Given the description of an element on the screen output the (x, y) to click on. 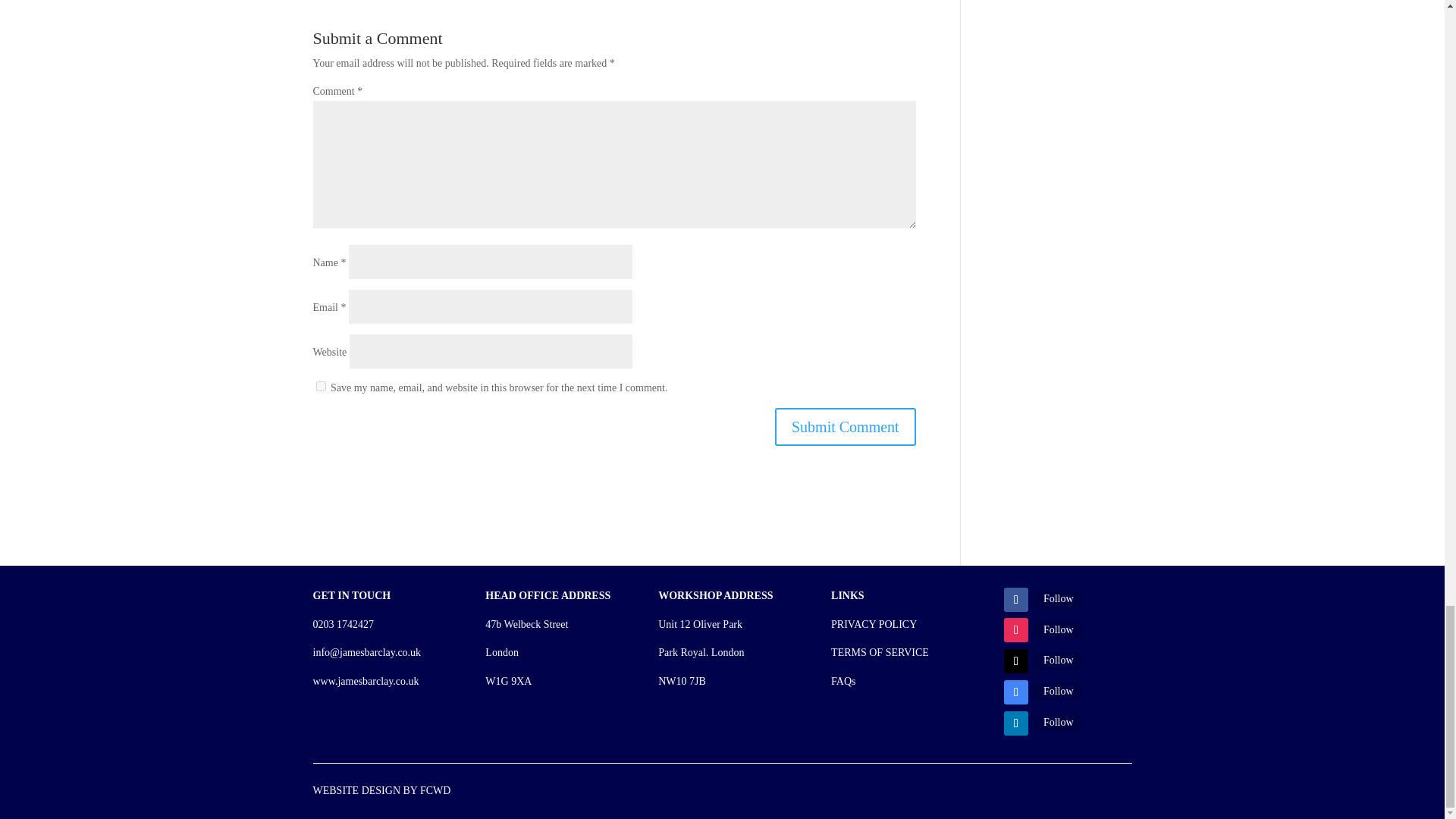
Instagram (1058, 629)
Submit Comment (844, 426)
TERMS OF SERVICE (879, 652)
Google (1058, 691)
Follow on X (1015, 661)
X (1058, 660)
Follow on Instagram (1015, 630)
Submit Comment (844, 426)
yes (319, 386)
Follow on LinkedIn (1015, 723)
LinkedIn (1058, 722)
PRIVACY POLICY (874, 624)
Facebook (1058, 598)
Follow on Google (1015, 692)
0203 1742427 (343, 624)
